Given the description of an element on the screen output the (x, y) to click on. 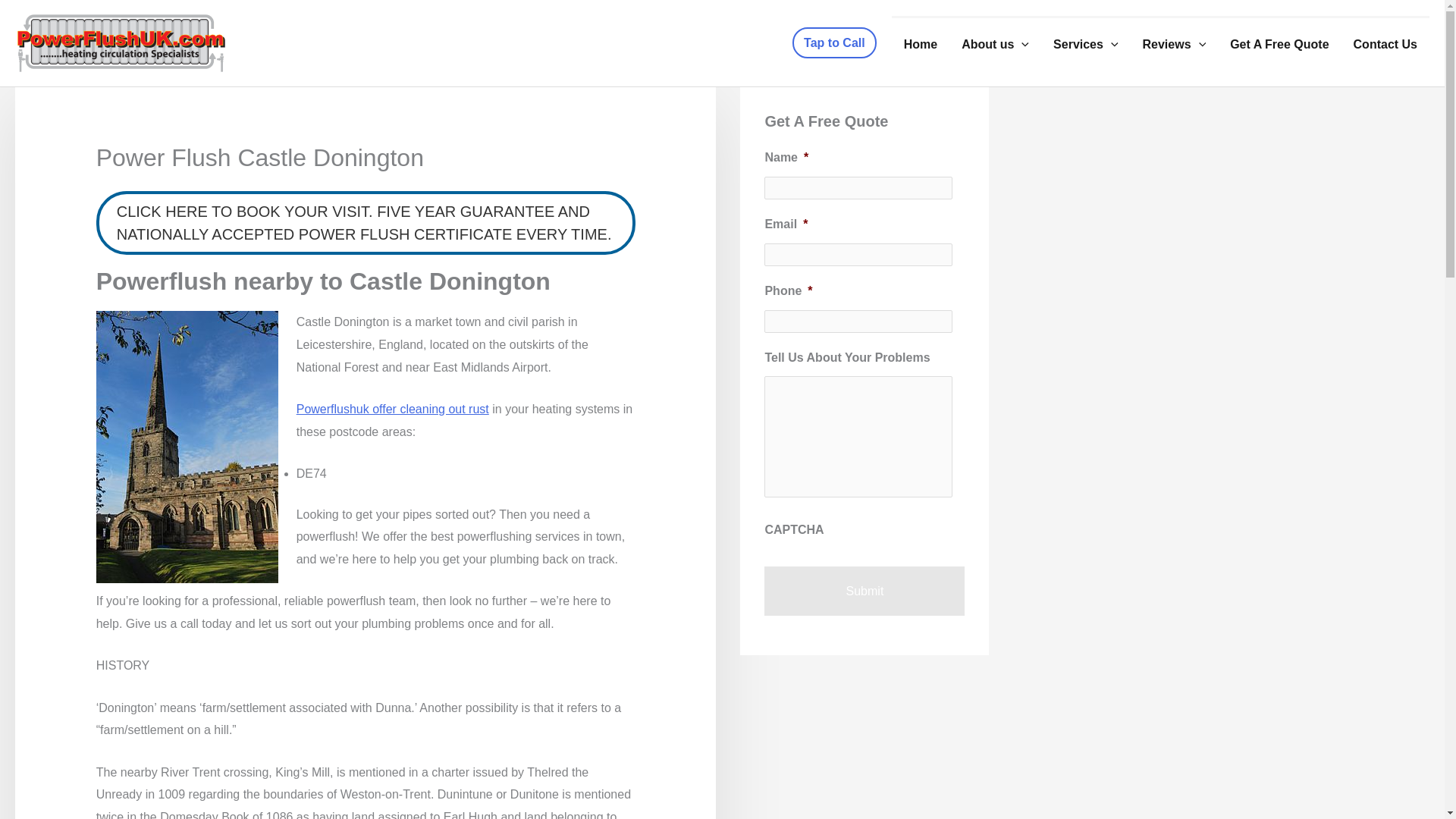
Tap to Call (834, 42)
Get A Free Quote (1278, 42)
Home (920, 42)
Submit (863, 591)
Services (1085, 42)
Contact Us (1384, 42)
Reviews (1174, 42)
About us (995, 42)
